Given the description of an element on the screen output the (x, y) to click on. 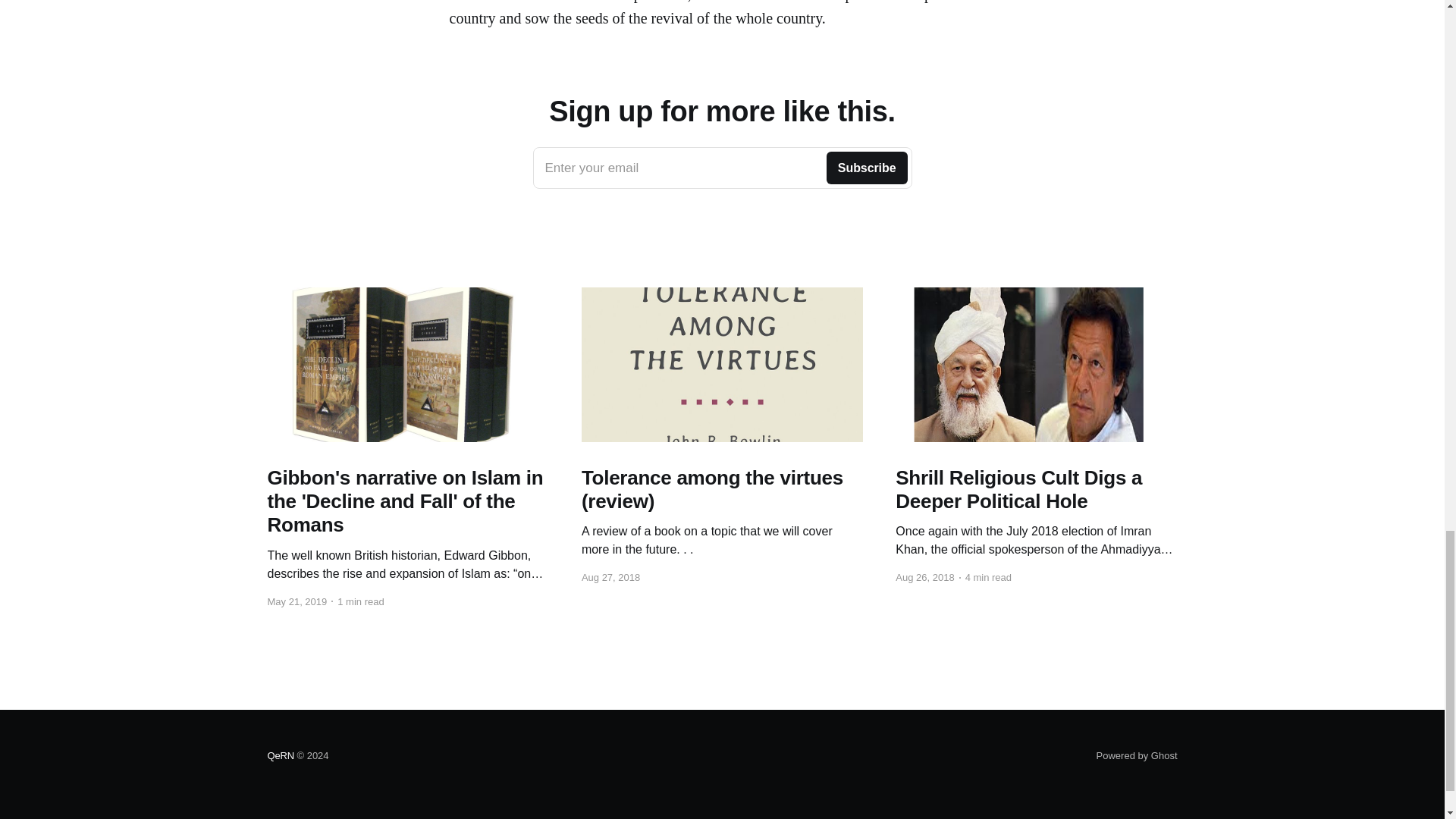
QeRN (280, 755)
Powered by Ghost (721, 168)
